Given the description of an element on the screen output the (x, y) to click on. 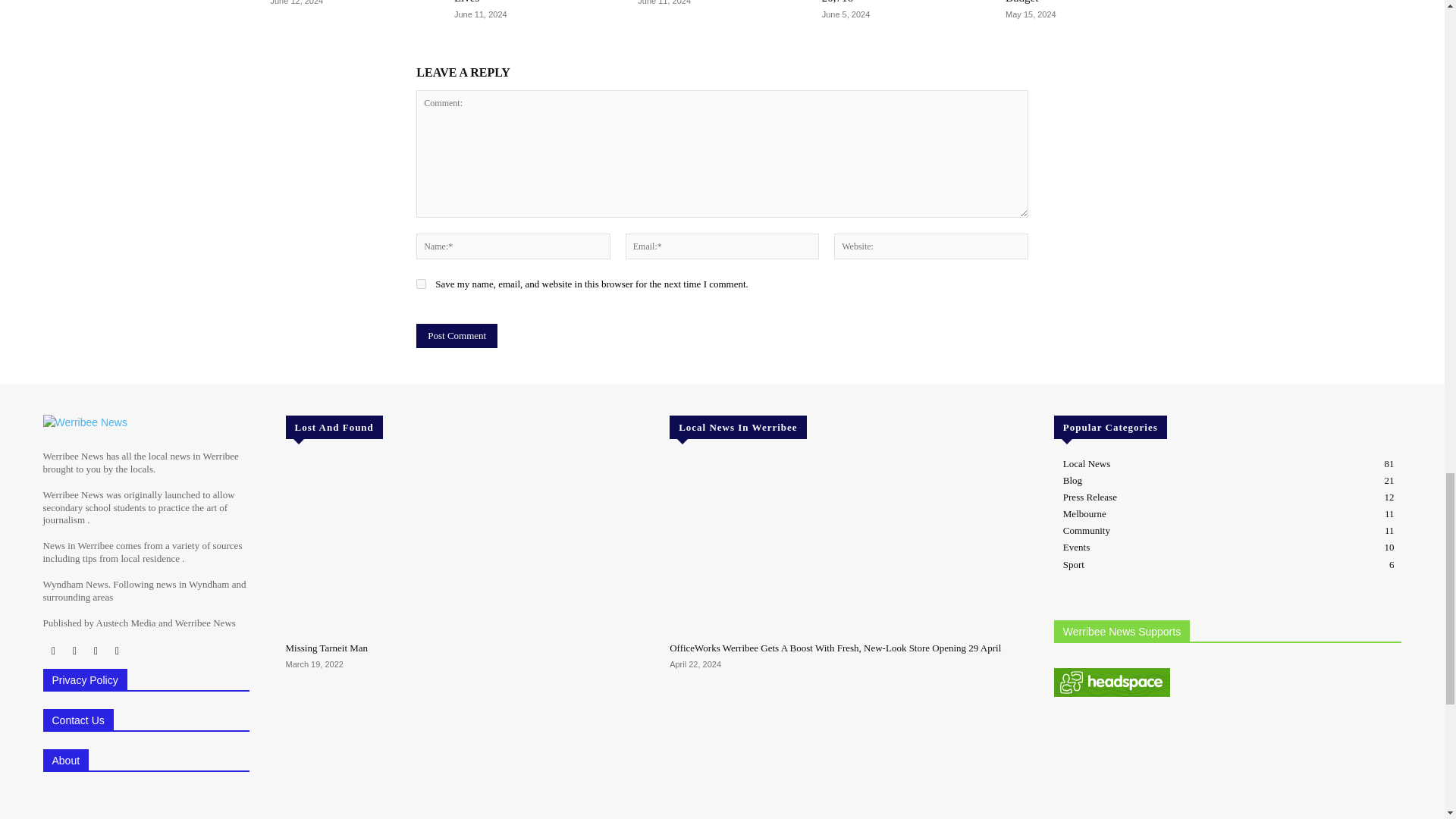
Post Comment (456, 335)
yes (421, 284)
